Given the description of an element on the screen output the (x, y) to click on. 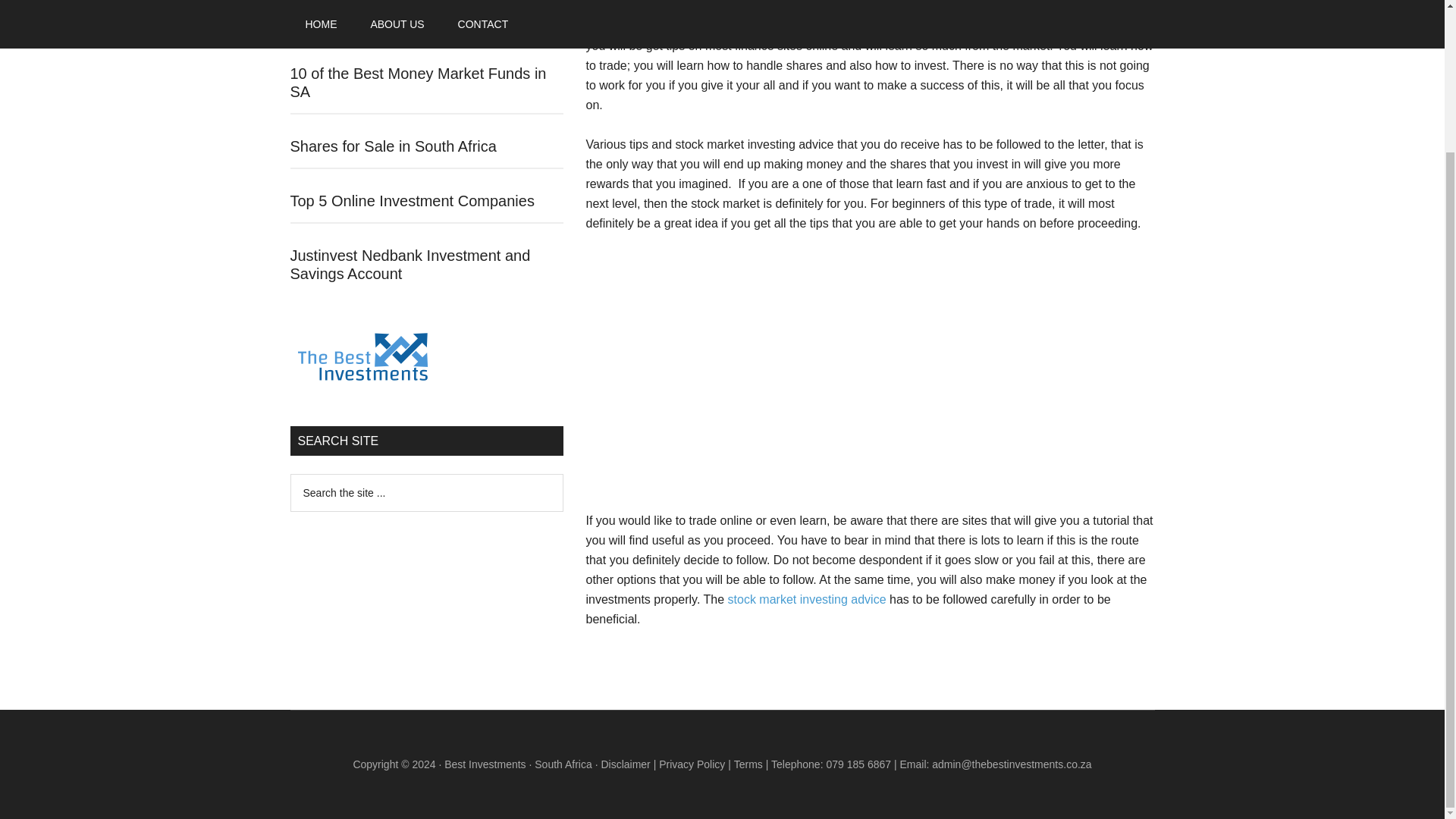
Disclaimer (624, 764)
RSA Retail Bonds in South Africa (400, 18)
Justinvest Nedbank Investment and Savings Account (409, 264)
Terms (747, 764)
stock market investing advice (807, 599)
Privacy Policy (692, 764)
Top 5 Online Investment Companies (411, 200)
Shares for Sale in South Africa (392, 146)
Advertisement (869, 378)
10 of the Best Money Market Funds in SA (417, 82)
